Given the description of an element on the screen output the (x, y) to click on. 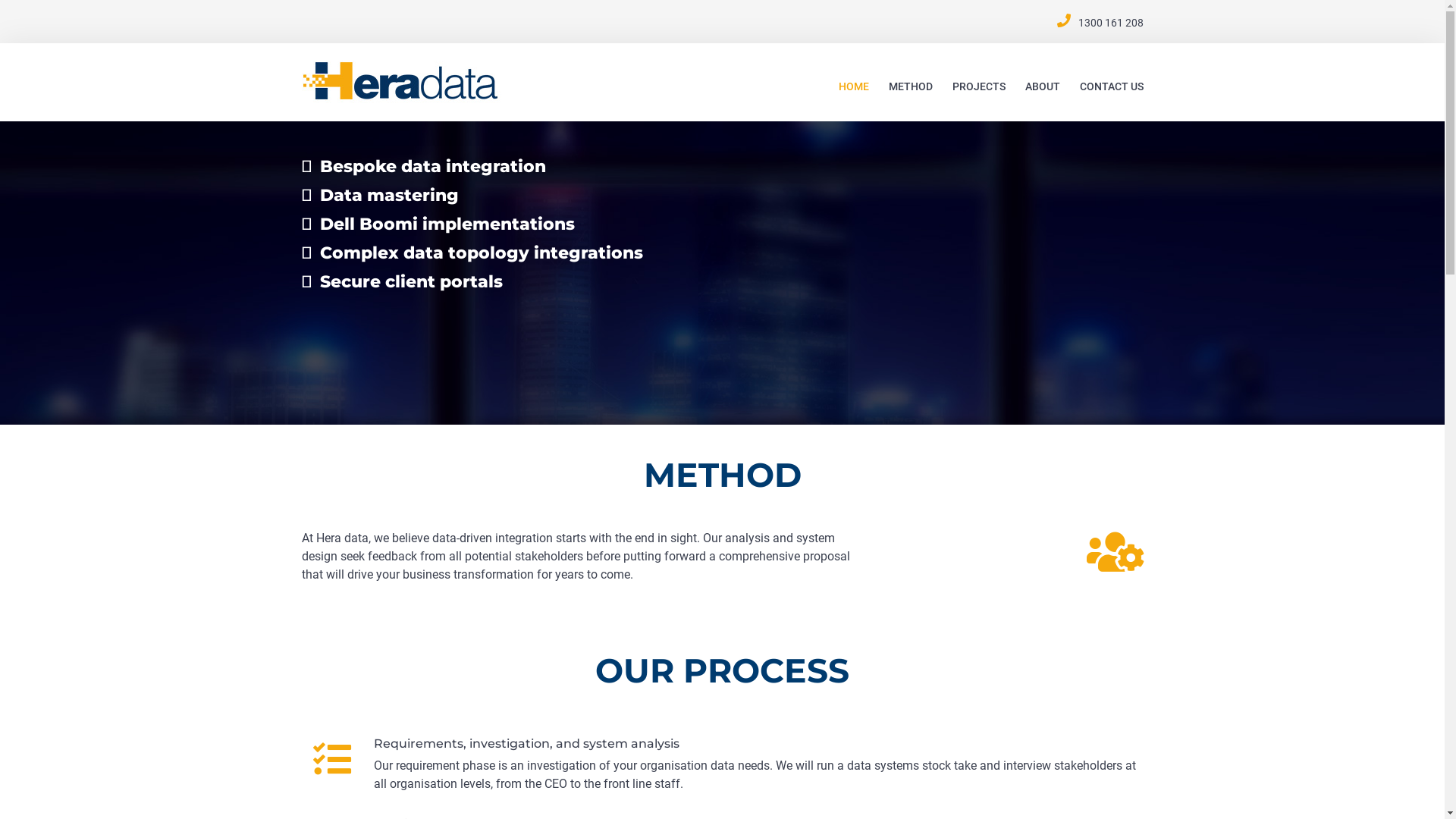
METHOD Element type: text (910, 86)
HOME Element type: text (853, 86)
ABOUT Element type: text (1042, 86)
1300 161 208 Element type: text (1110, 22)
CONTACT US Element type: text (1111, 86)
PROJECTS Element type: text (978, 86)
